Given the description of an element on the screen output the (x, y) to click on. 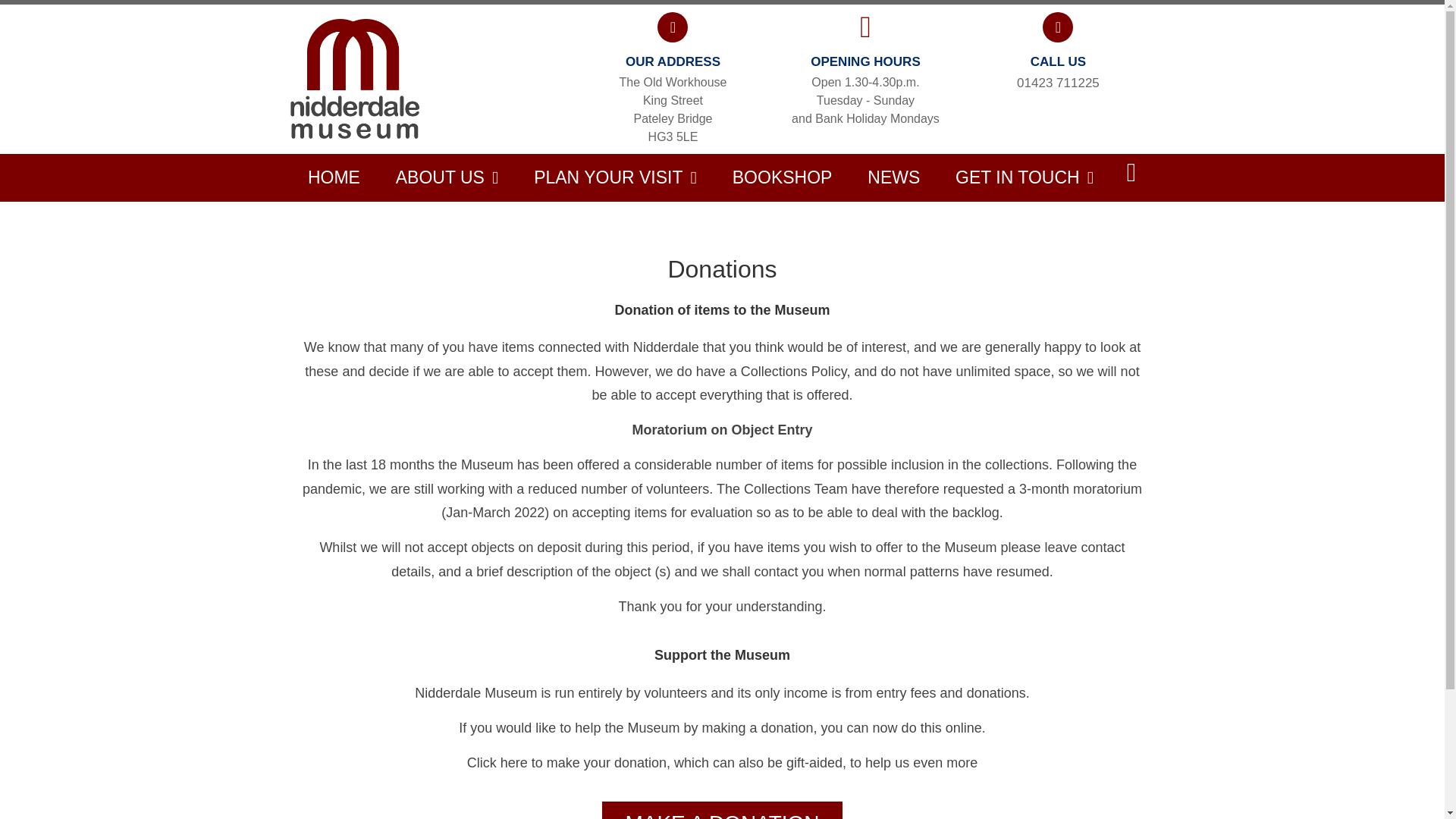
GET IN TOUCH (1024, 177)
BOOKSHOP (781, 177)
NEWS (893, 177)
CALL US (1058, 61)
ABOUT US (446, 177)
HOME (333, 177)
MAKE A DONATION (721, 810)
PLAN YOUR VISIT (615, 177)
